Given the description of an element on the screen output the (x, y) to click on. 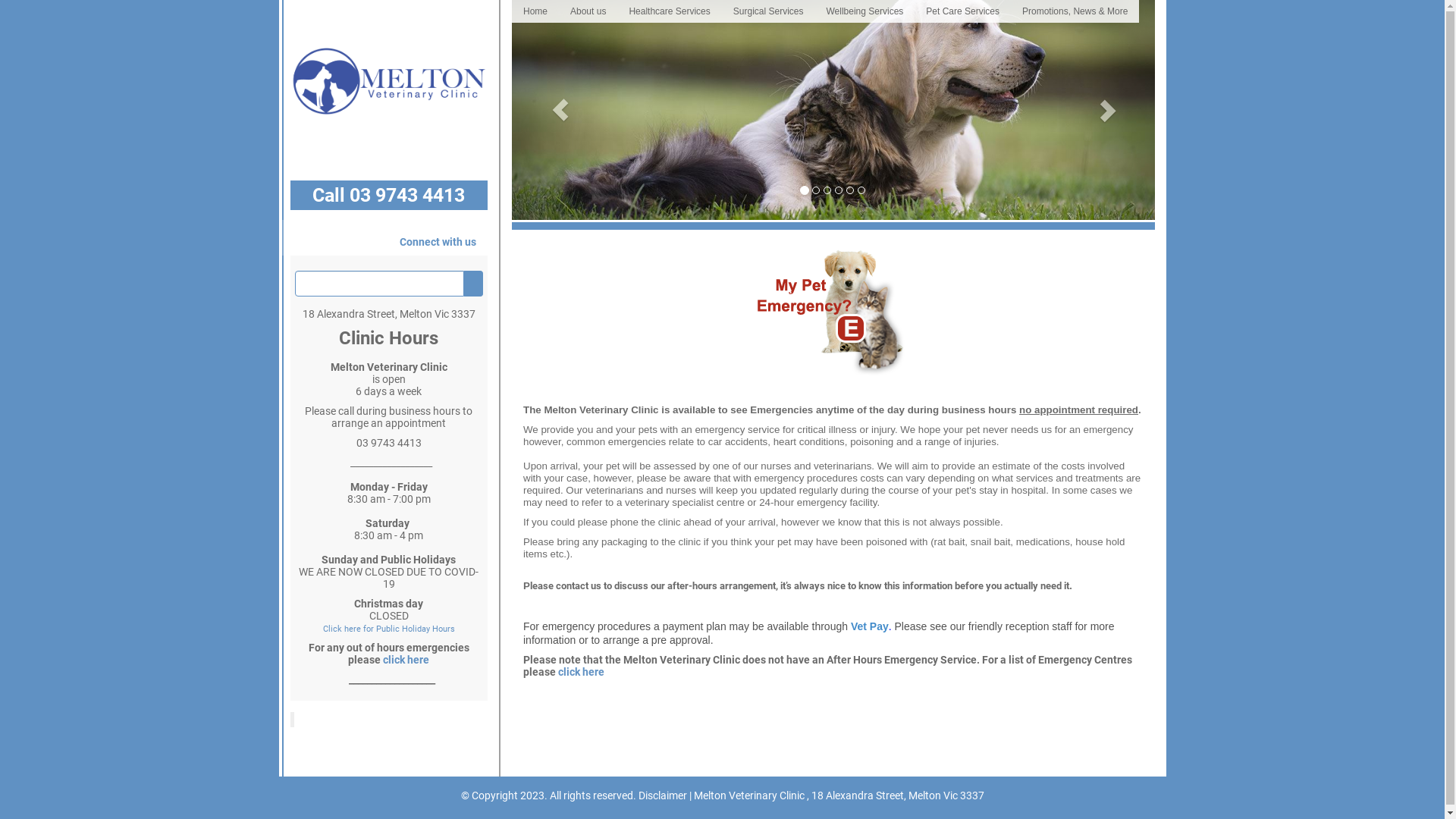
Disclaimer Element type: text (662, 795)
Vet Pay Element type: text (869, 626)
Home Element type: text (534, 11)
Healthcare Services Element type: text (669, 11)
click here Element type: text (405, 659)
Surgical Services Element type: text (768, 11)
About us Element type: text (587, 11)
Click here for Public Holiday Hours Element type: text (389, 628)
click here Element type: text (581, 671)
Wellbeing Services Element type: text (864, 11)
03 9743 4413 Element type: text (406, 195)
Promotions, News & More Element type: text (1074, 11)
Pet Care Services Element type: text (962, 11)
